Given the description of an element on the screen output the (x, y) to click on. 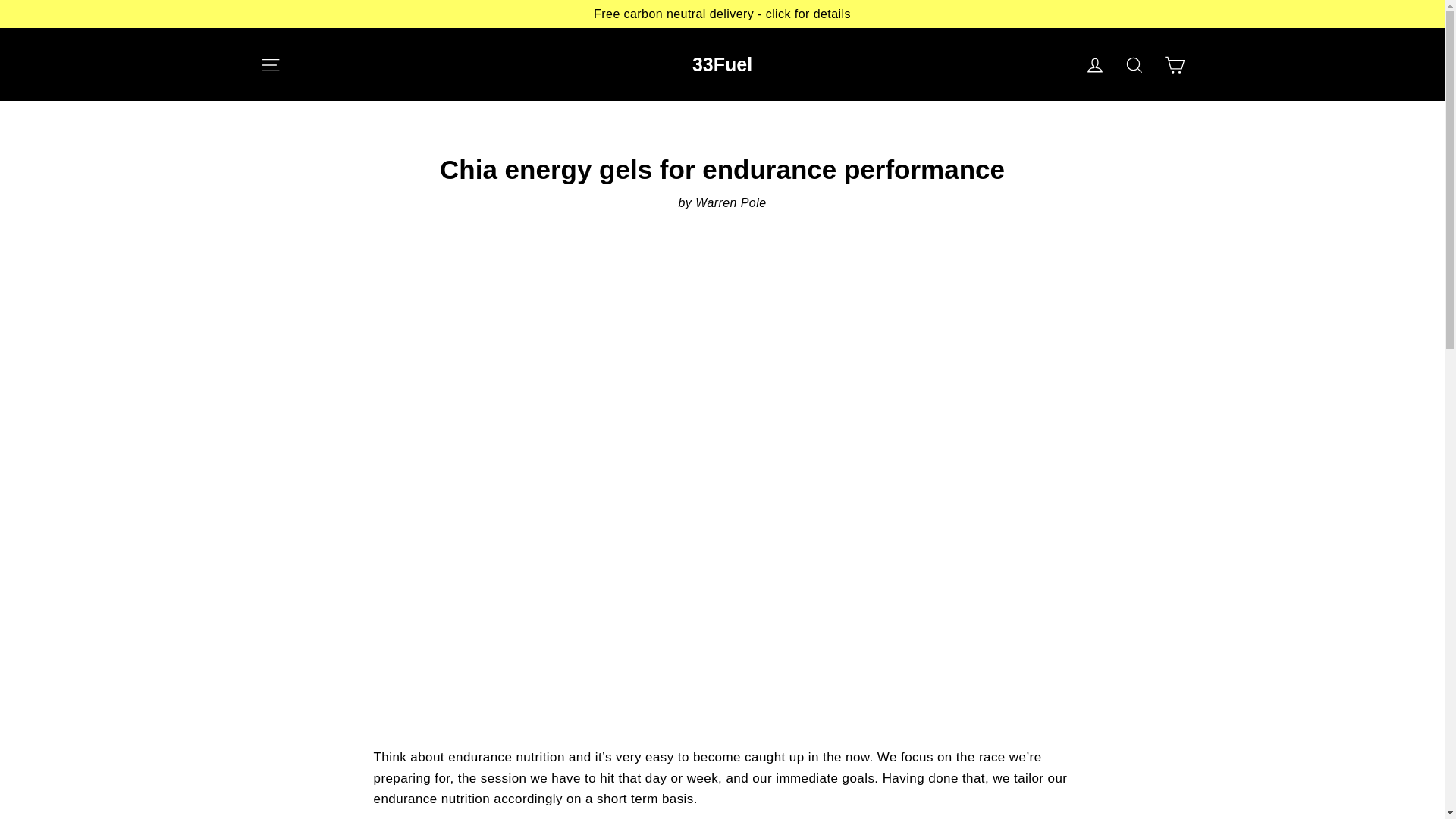
Skip to content Element type: text (0, 0)
Free carbon neutral delivery - click for details Element type: text (722, 14)
Site navigation Element type: text (269, 63)
Search Element type: text (1134, 63)
Cart Element type: text (1173, 63)
33Fuel Element type: text (722, 64)
Log in Element type: text (1094, 63)
